Given the description of an element on the screen output the (x, y) to click on. 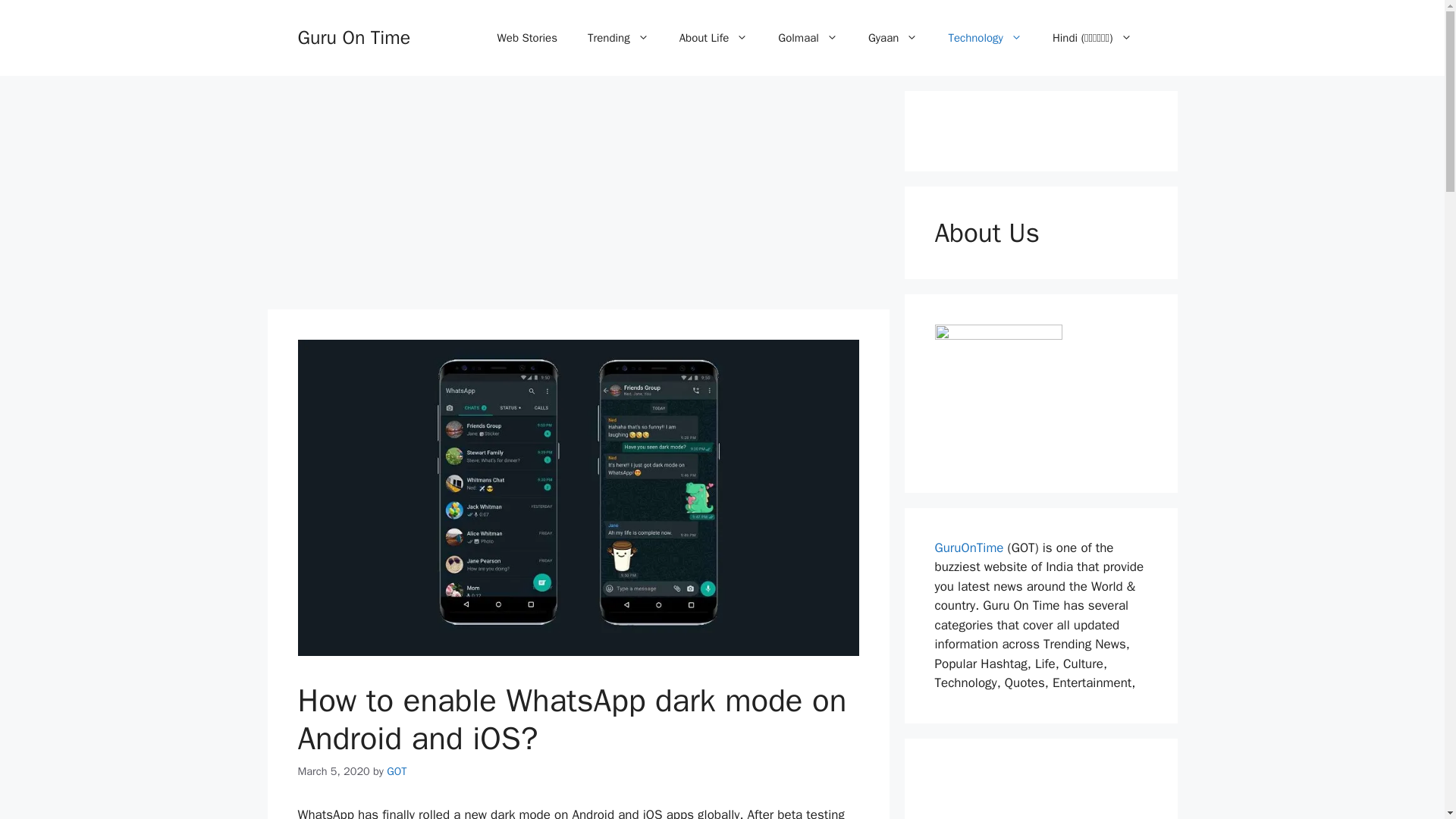
Guru On Time (353, 37)
Technology (984, 37)
Trending (617, 37)
Web Stories (526, 37)
Golmaal (807, 37)
About Life (712, 37)
View all posts by GOT (396, 771)
Gyaan (893, 37)
GOT (396, 771)
